Given the description of an element on the screen output the (x, y) to click on. 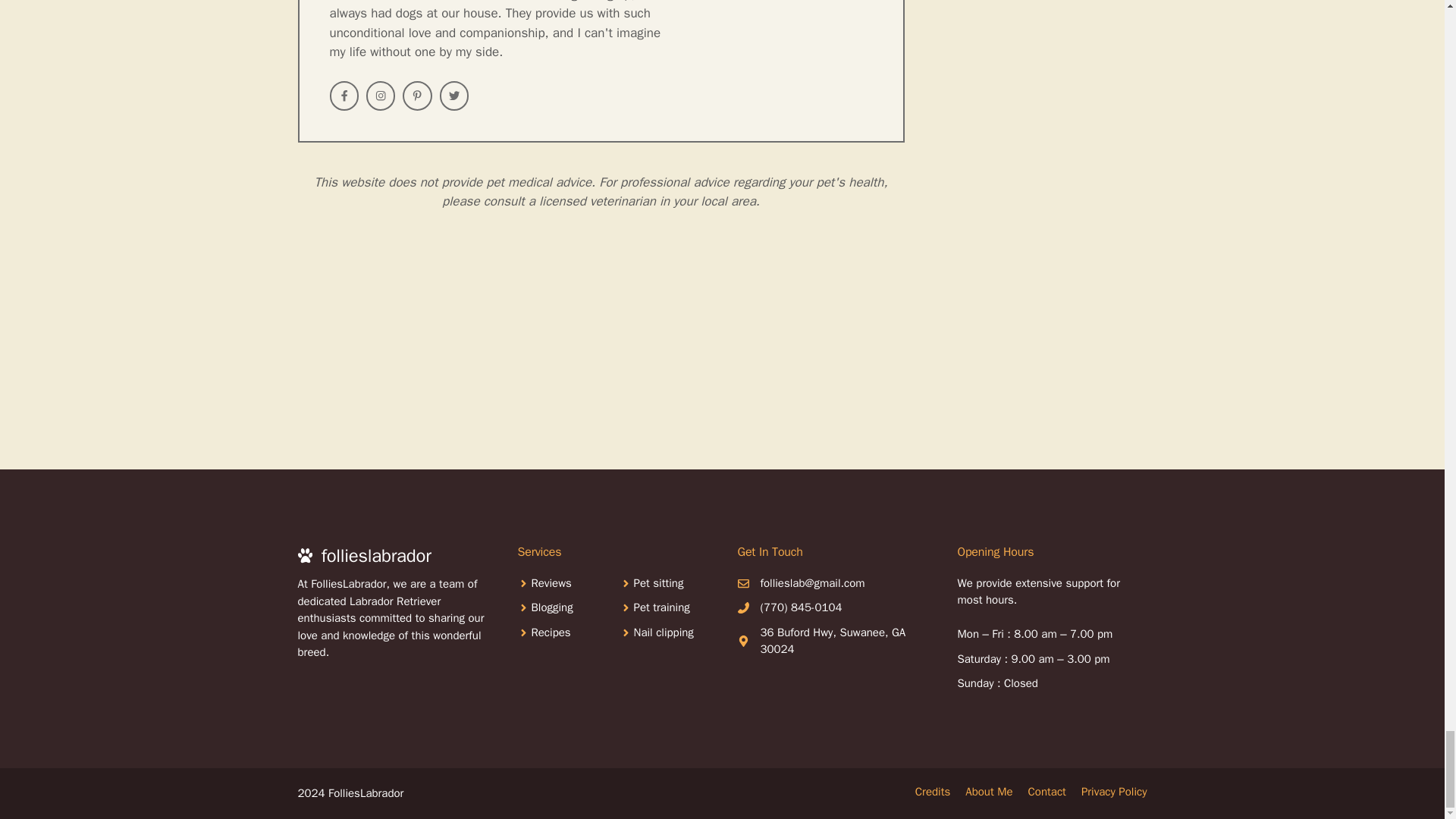
Baby and labrador retriever outside (144, 355)
Brown Lab pinkish nose (722, 355)
elisa-kennemer-0TdrHK0po7I-unsplash (433, 355)
